Given the description of an element on the screen output the (x, y) to click on. 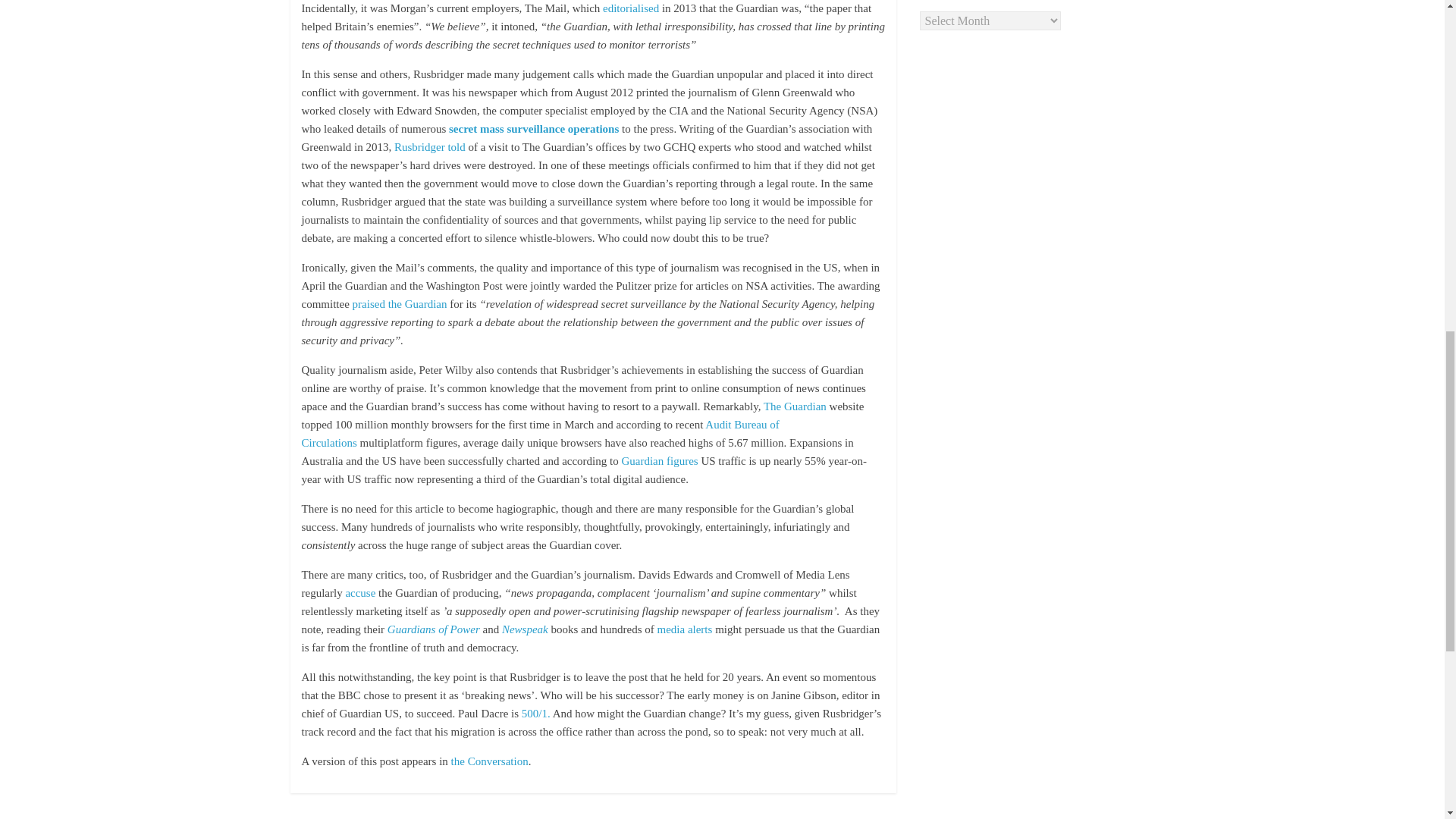
Rusbridger told  (431, 146)
praised the Guardian (399, 304)
Newspeak (525, 629)
the Conversation (489, 761)
media alerts  (685, 629)
accuse  (361, 592)
 Audit Bureau of Circulations (539, 433)
secret mass surveillance operations (533, 128)
editorialised  (632, 8)
Guardian figures (659, 460)
